Given the description of an element on the screen output the (x, y) to click on. 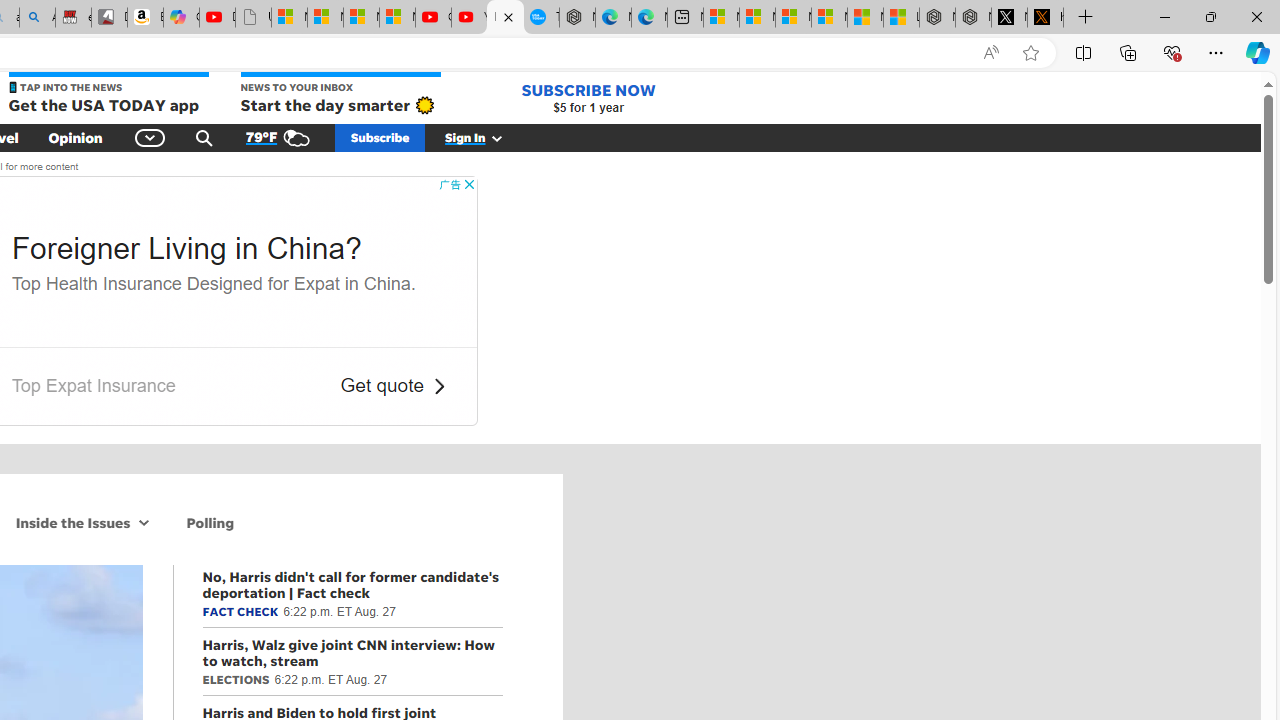
Nordace - Summer Adventures 2024 (973, 17)
Polling (210, 521)
Read aloud this page (Ctrl+Shift+U) (991, 53)
Global Navigation (150, 137)
Class: gnt_n_se_a_svg (204, 137)
Microsoft Start (865, 17)
Inside the Issues (69, 521)
Class: ns-8fxrh-e-25 (438, 386)
Nordace (@NordaceOfficial) / X (1009, 17)
Microsoft account | Microsoft Account Privacy Settings (756, 17)
